Given the description of an element on the screen output the (x, y) to click on. 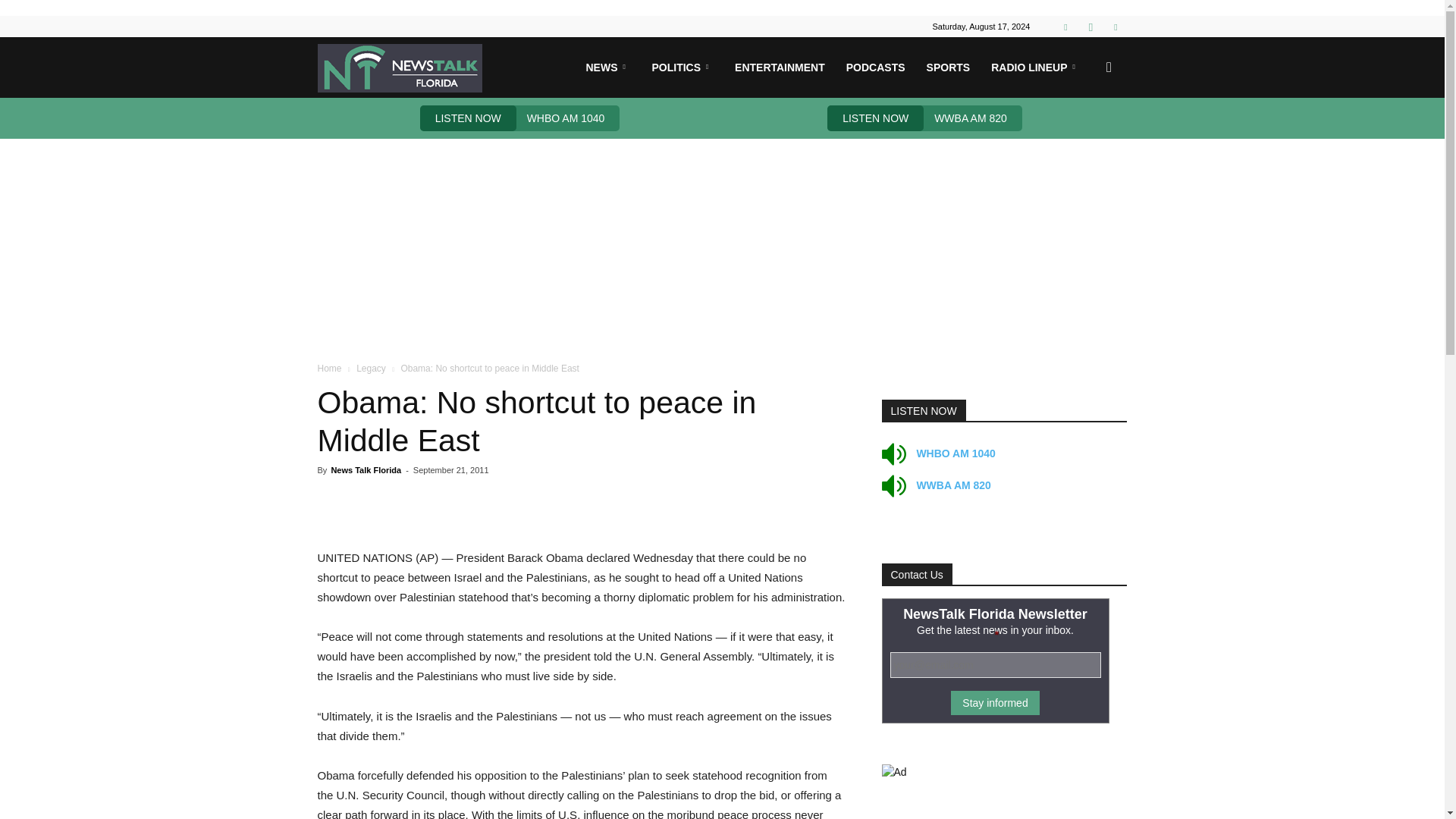
Instagram (1090, 25)
Stay informed (994, 702)
Facebook (1065, 25)
Twitter (1114, 25)
View all posts in Legacy (370, 368)
Search (1085, 139)
